Given the description of an element on the screen output the (x, y) to click on. 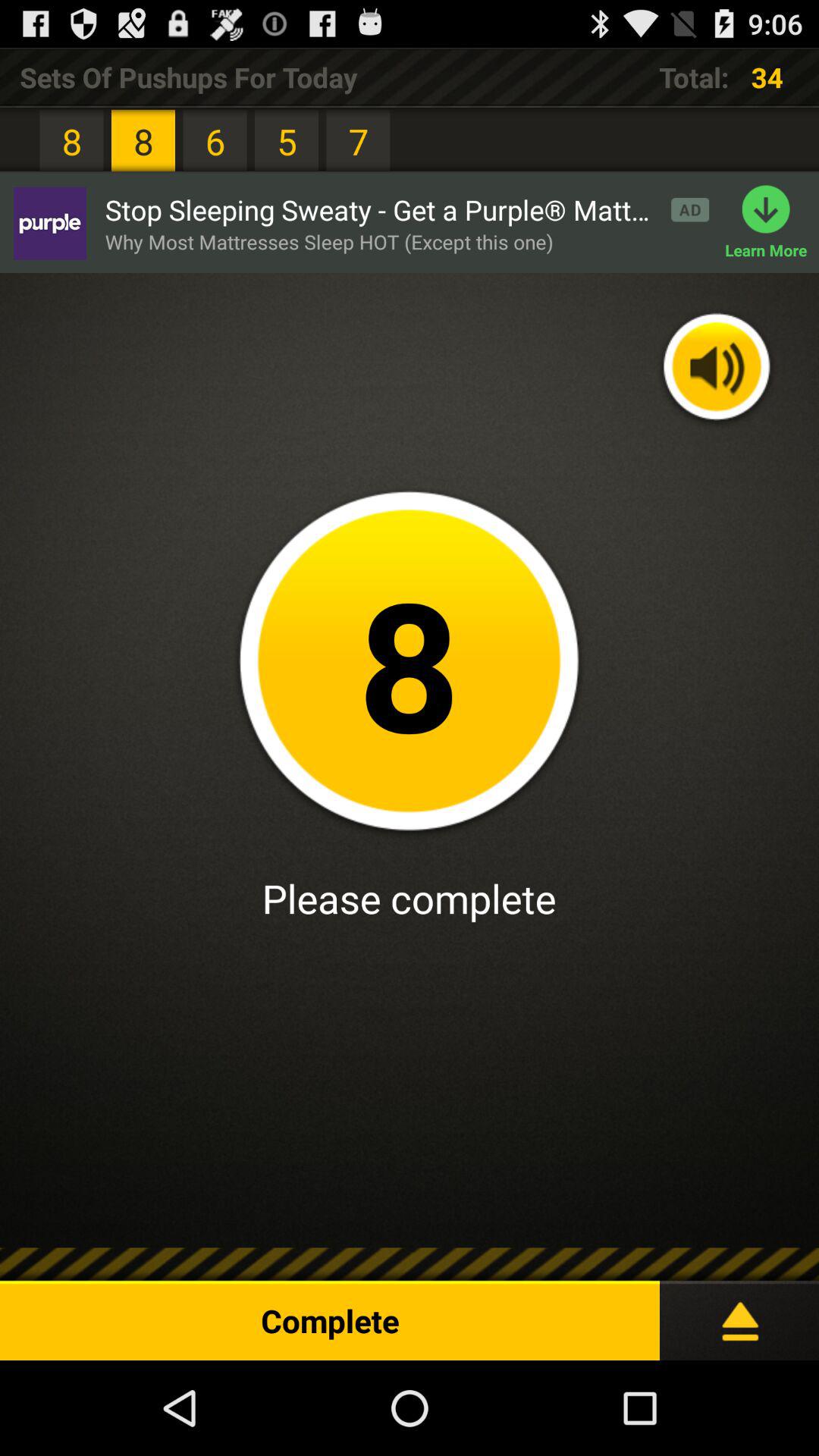
volume options (716, 368)
